Given the description of an element on the screen output the (x, y) to click on. 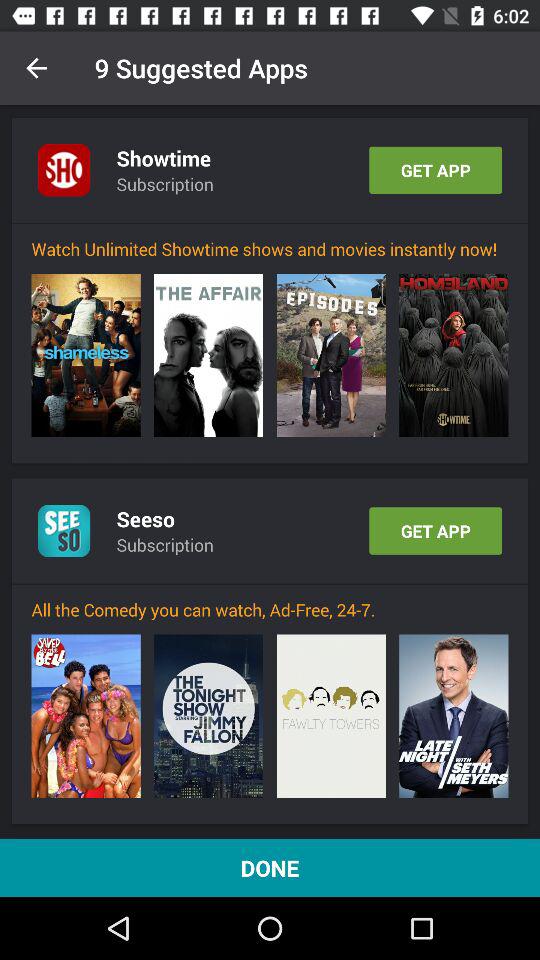
open the item above done icon (330, 716)
